Given the description of an element on the screen output the (x, y) to click on. 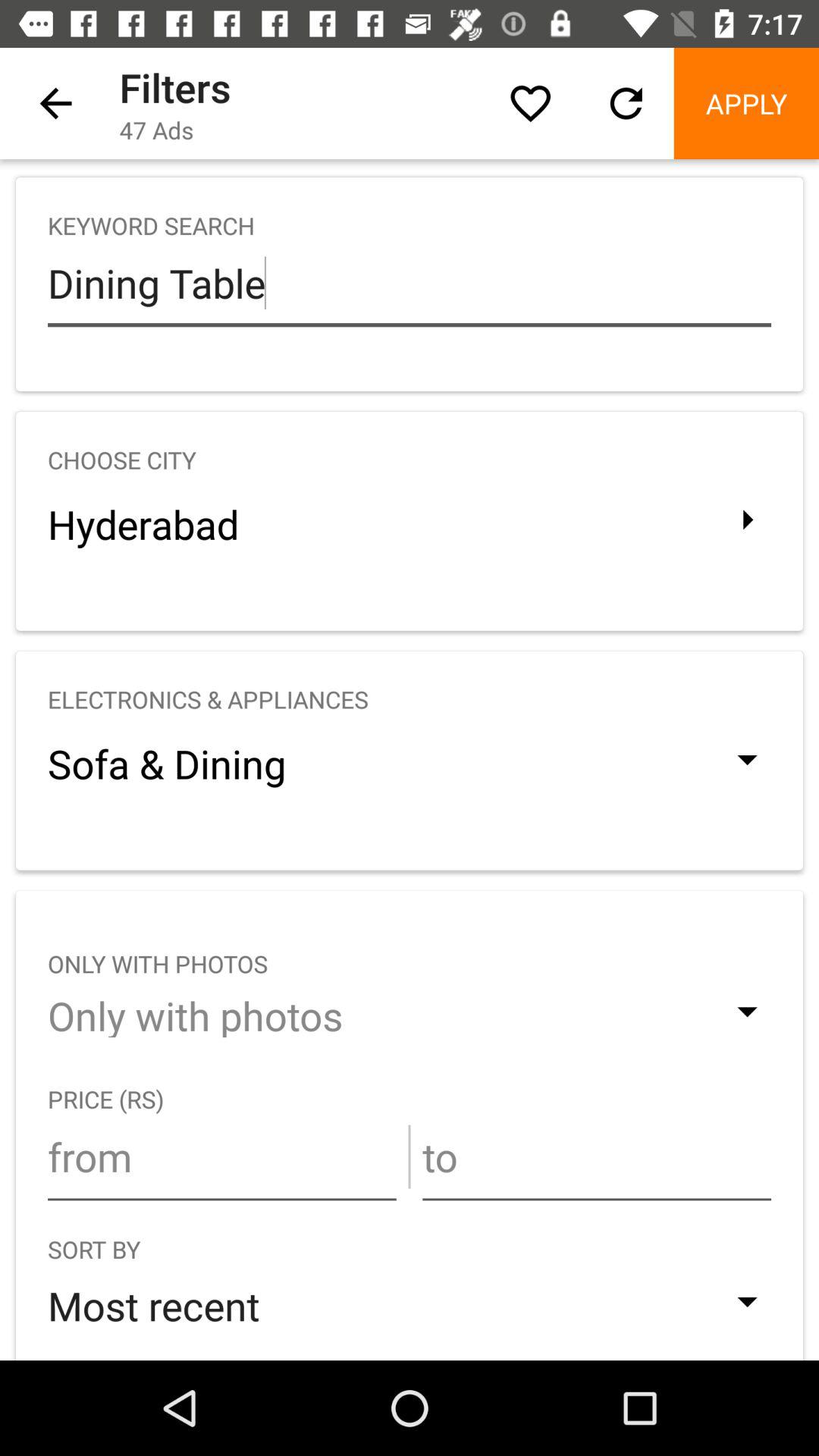
click the icon above keyword search (55, 103)
